Given the description of an element on the screen output the (x, y) to click on. 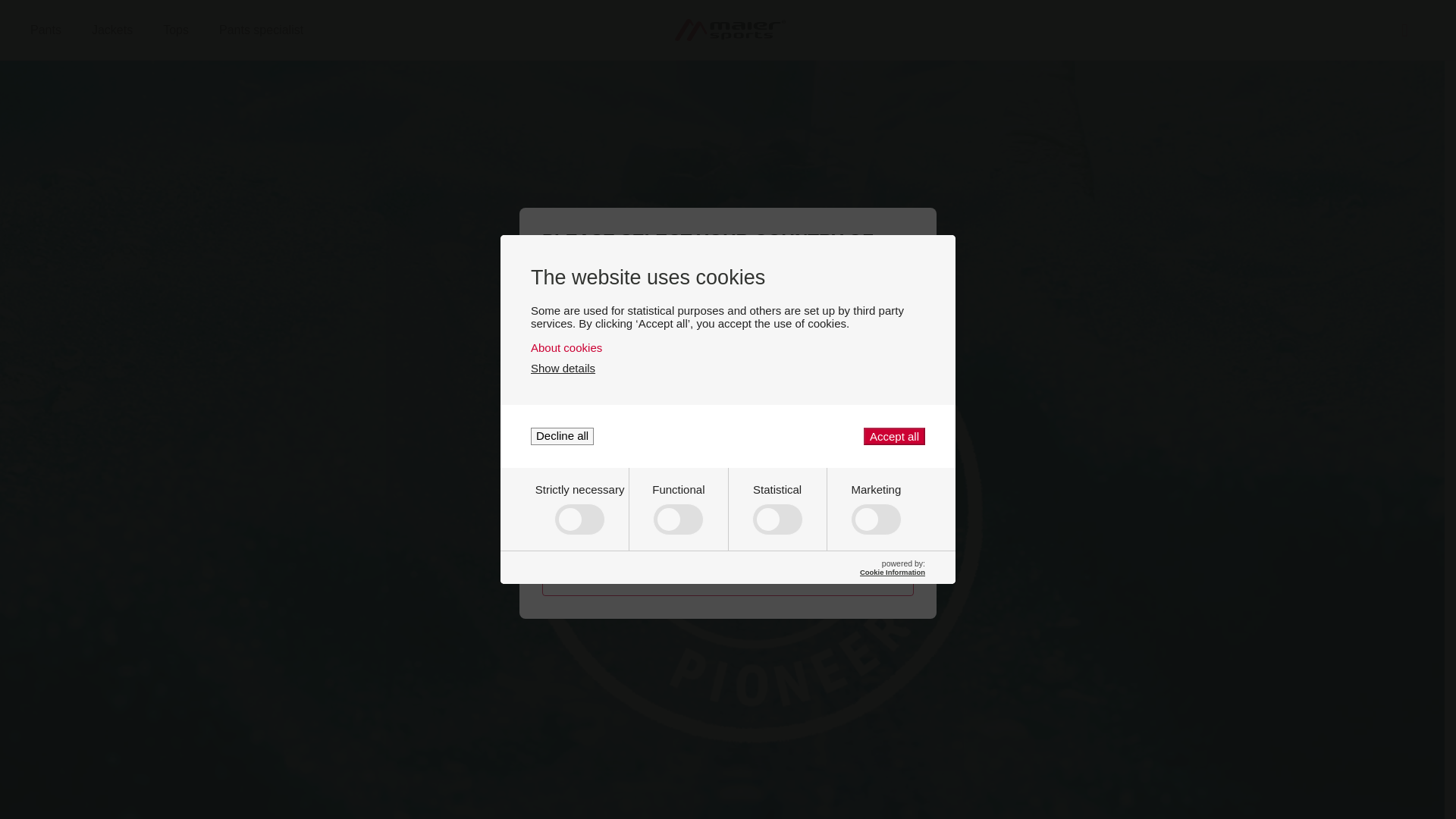
Accept all (893, 436)
Show details (563, 367)
Decline all (562, 436)
About cookies (174, 30)
Cookie Information (727, 347)
